Given the description of an element on the screen output the (x, y) to click on. 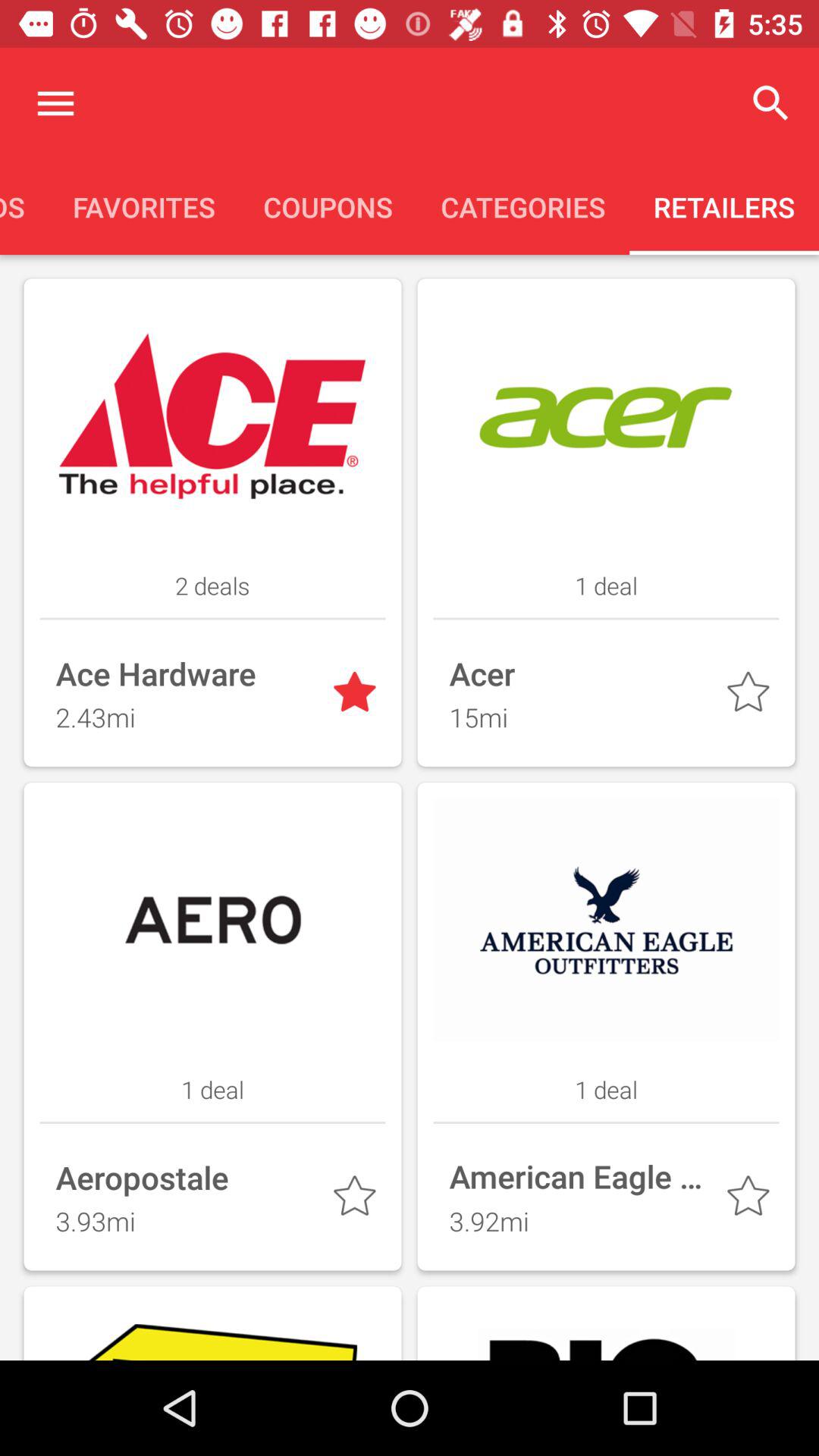
toggle favorite (357, 695)
